Given the description of an element on the screen output the (x, y) to click on. 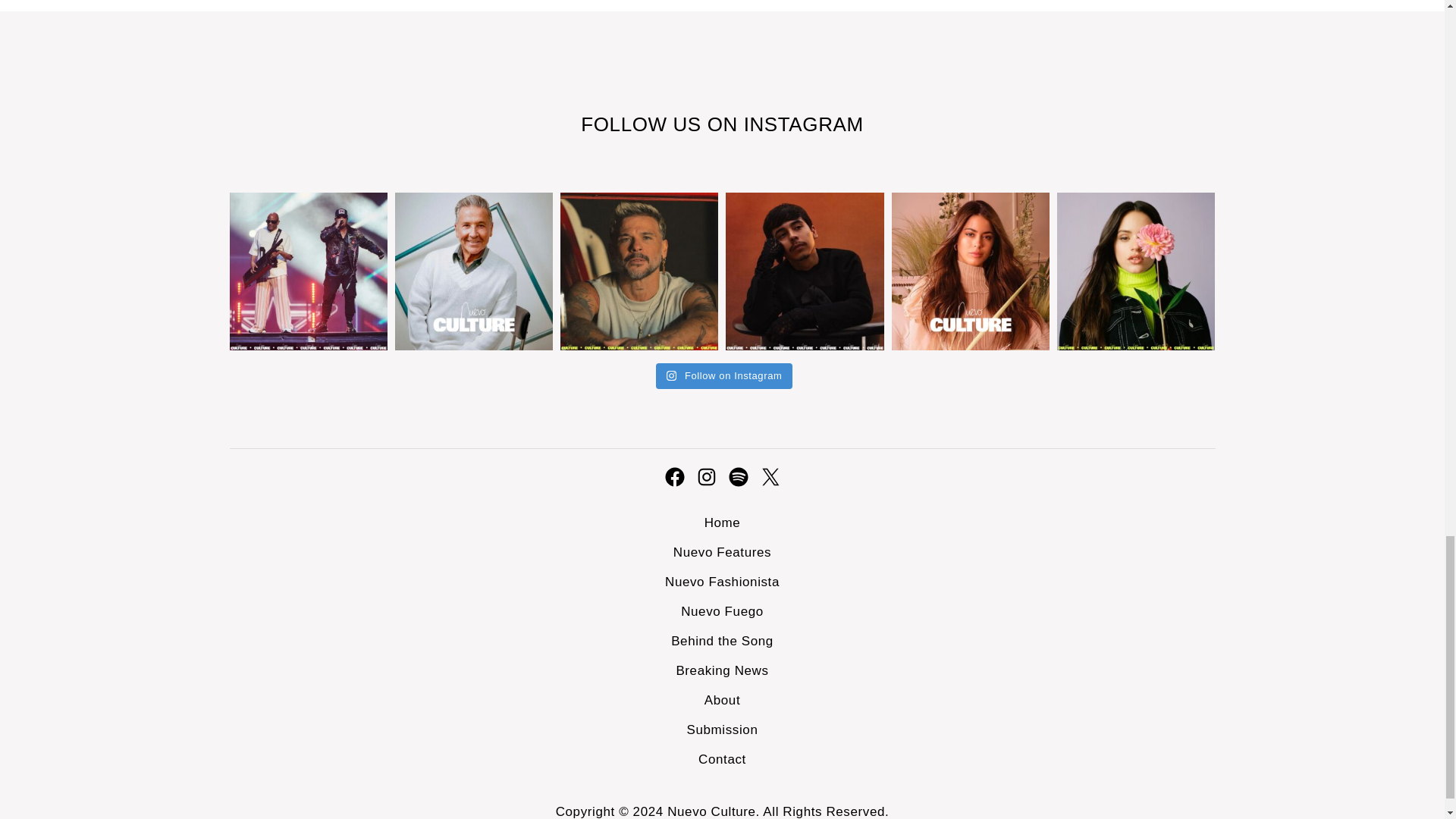
Facebook (673, 477)
Instagram (705, 477)
Spotify (737, 477)
FOLLOW US ON  (661, 124)
Follow on Instagram (724, 376)
